Given the description of an element on the screen output the (x, y) to click on. 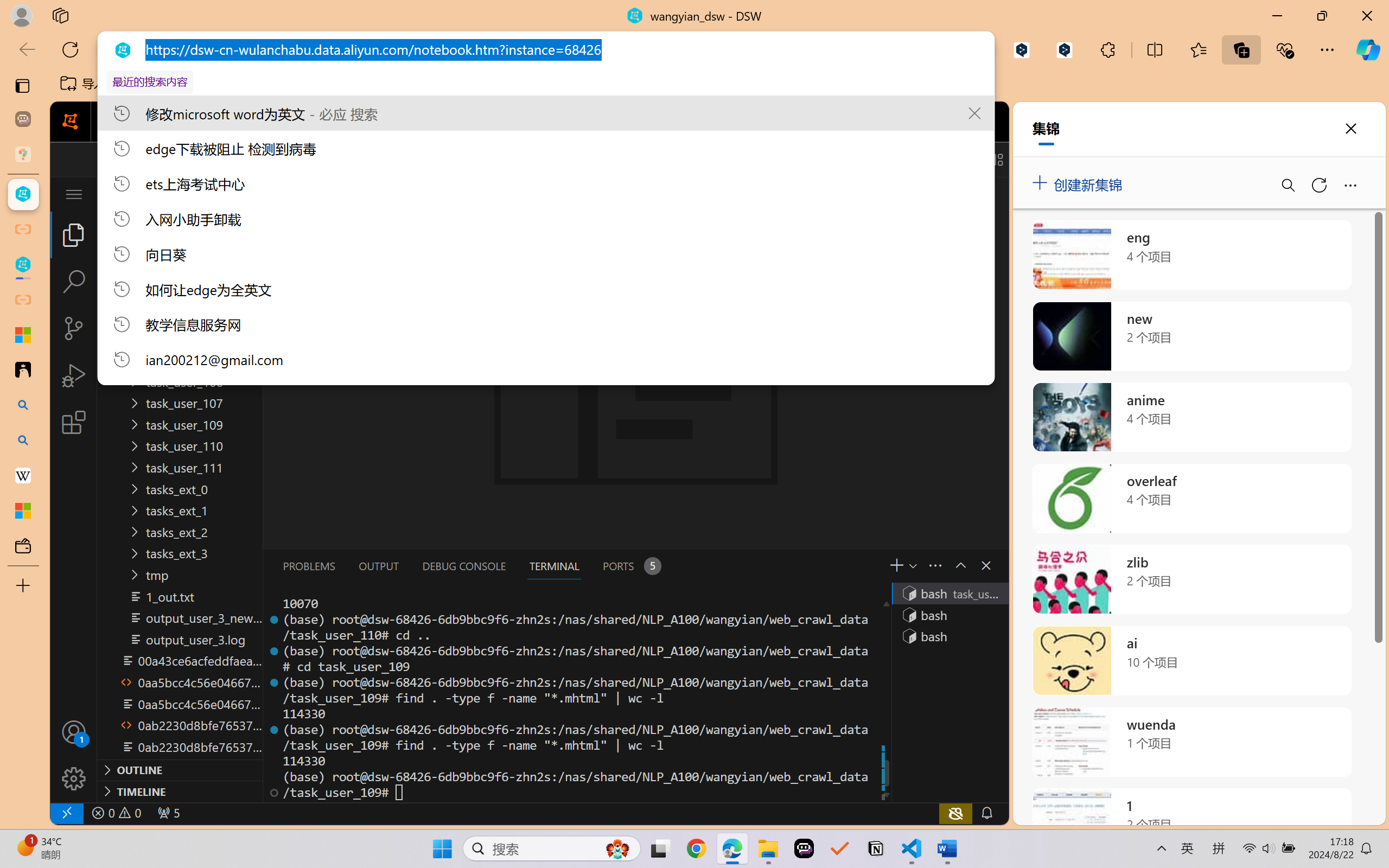
wangyian_webcrawler - DSW (22, 264)
Transformer Circuits Thread (680, 83)
Go Forward (Alt+RightArrow) (354, 159)
Wikipedia, the free encyclopedia (236, 83)
Output (Ctrl+Shift+U) (377, 565)
Manage (73, 755)
Class: next-menu next-hoz widgets--iconMenu--BFkiHRM (930, 121)
Launch Profile... (911, 565)
